Given the description of an element on the screen output the (x, y) to click on. 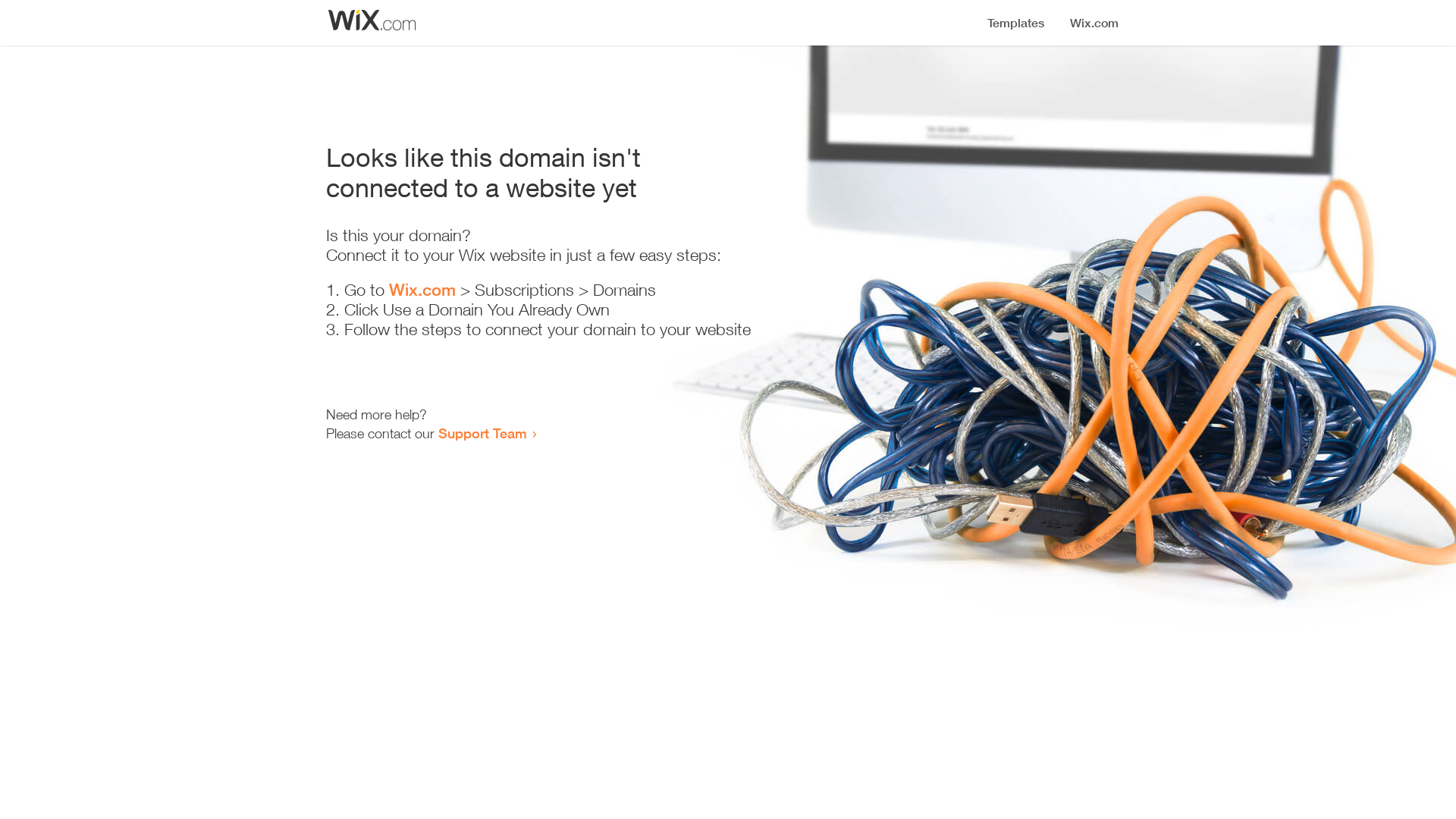
Support Team Element type: text (482, 432)
Wix.com Element type: text (422, 289)
